Given the description of an element on the screen output the (x, y) to click on. 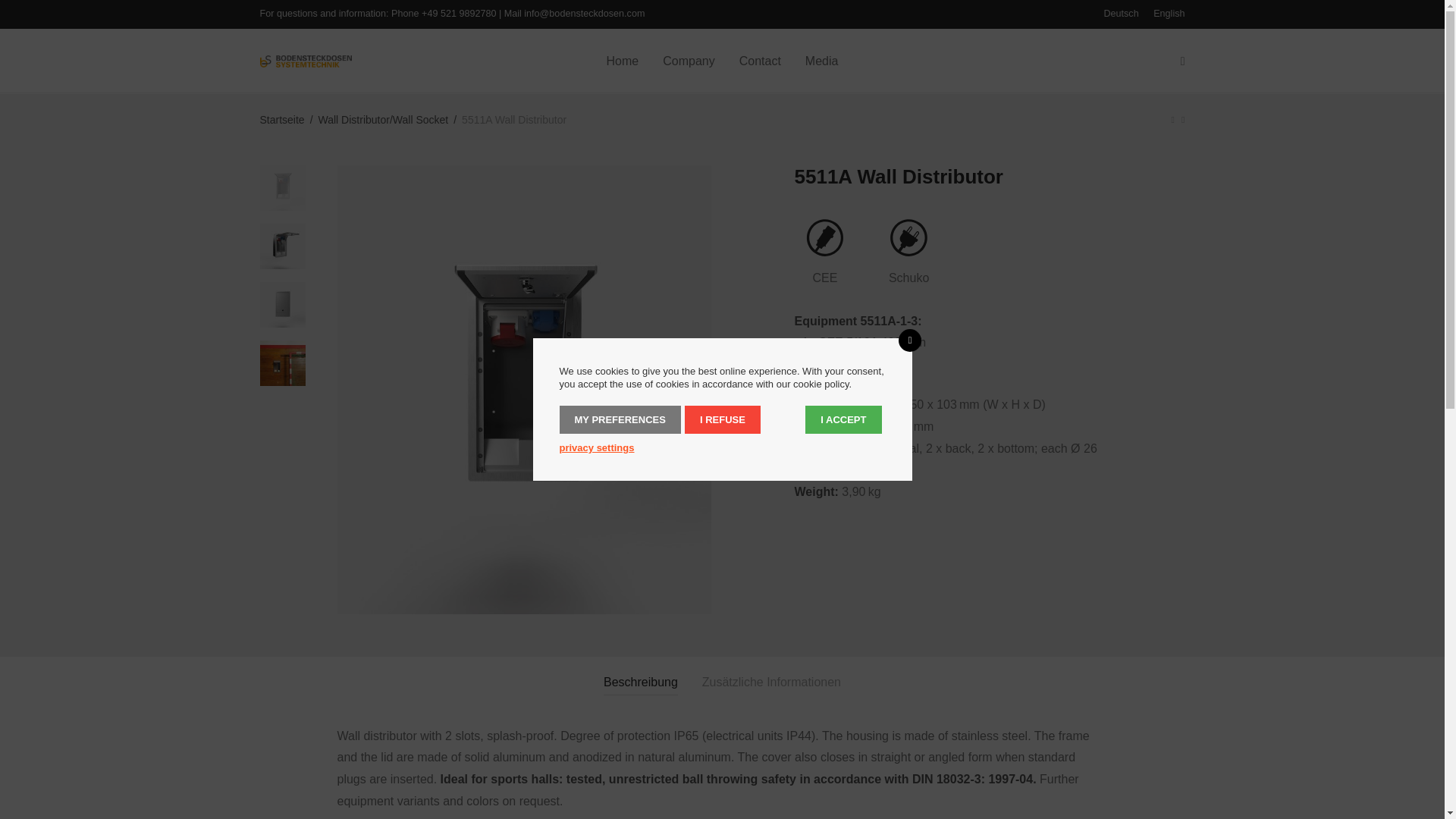
Contact (759, 61)
Company (688, 61)
CEE Icon grey 50x50px (825, 237)
Deutsch (1120, 13)
Media (821, 61)
English (1165, 13)
Home (622, 61)
Schuko Icon grey 50x50px (908, 237)
Startseite (281, 119)
Beschreibung (641, 682)
